Given the description of an element on the screen output the (x, y) to click on. 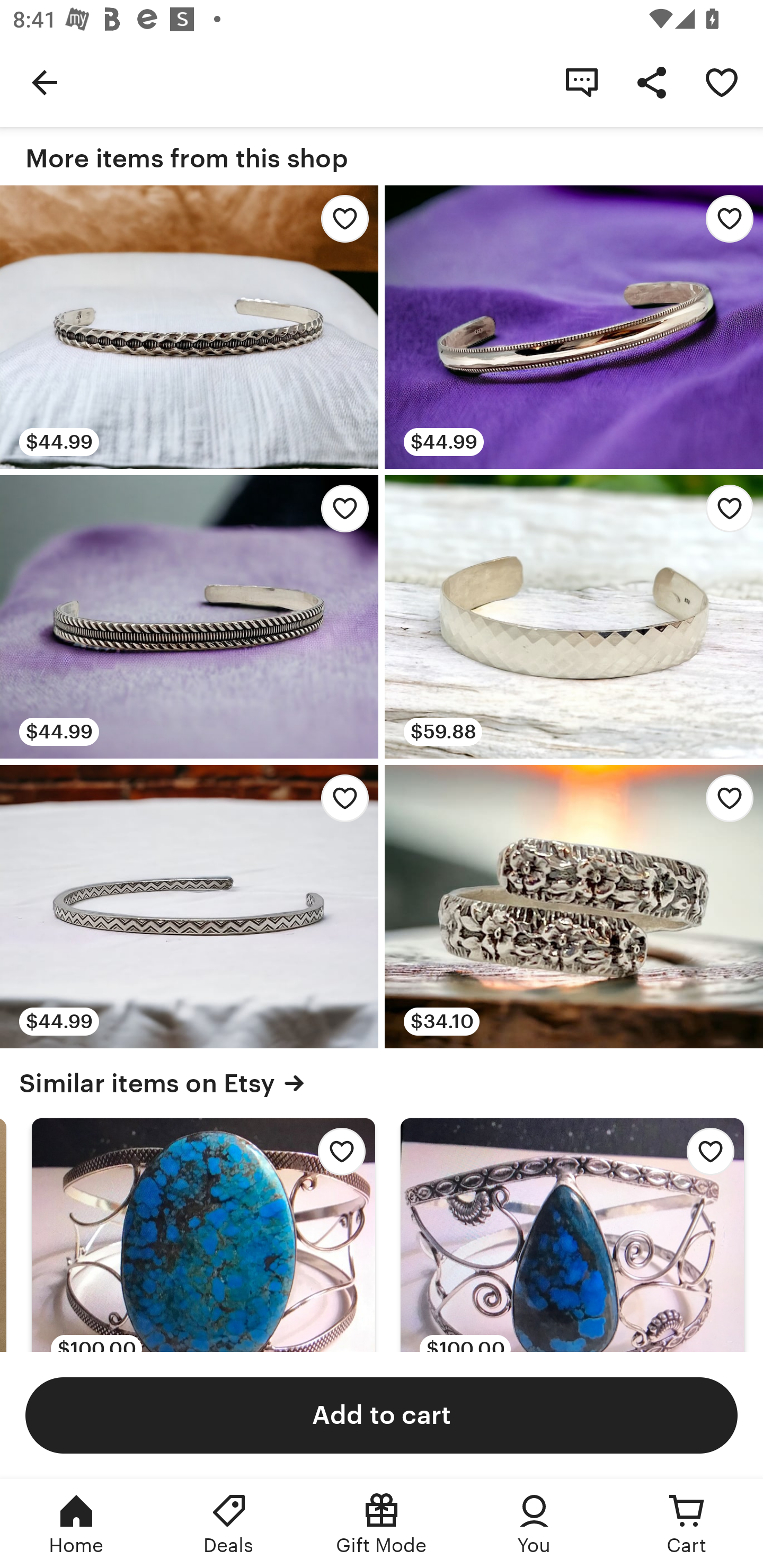
Navigate up (44, 81)
Contact shop (581, 81)
Share (651, 81)
Similar items on Etsy  (381, 1082)
Add to cart (381, 1414)
Deals (228, 1523)
Gift Mode (381, 1523)
You (533, 1523)
Cart (686, 1523)
